Given the description of an element on the screen output the (x, y) to click on. 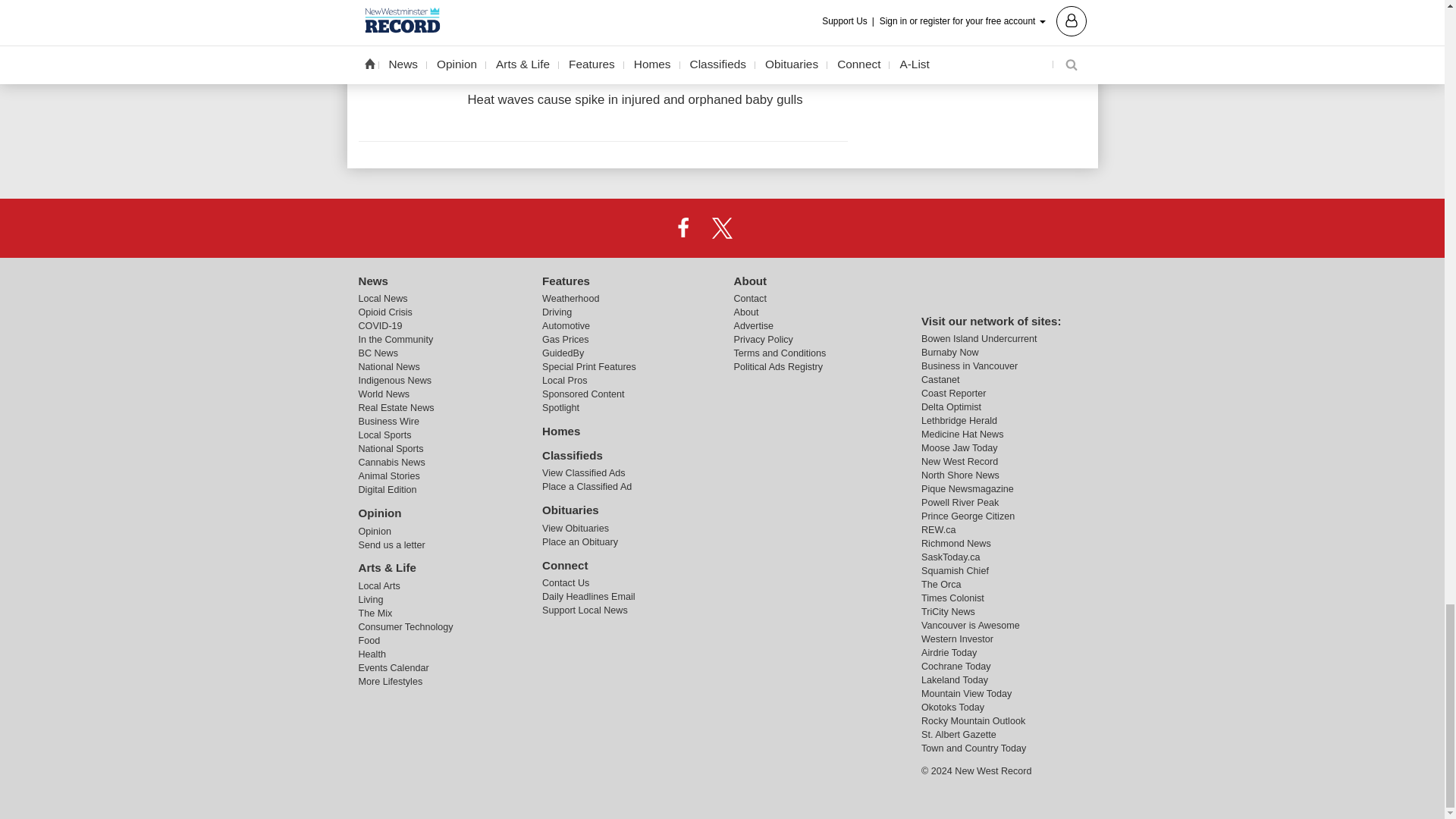
X (721, 226)
Facebook (683, 226)
Instagram (760, 226)
